Given the description of an element on the screen output the (x, y) to click on. 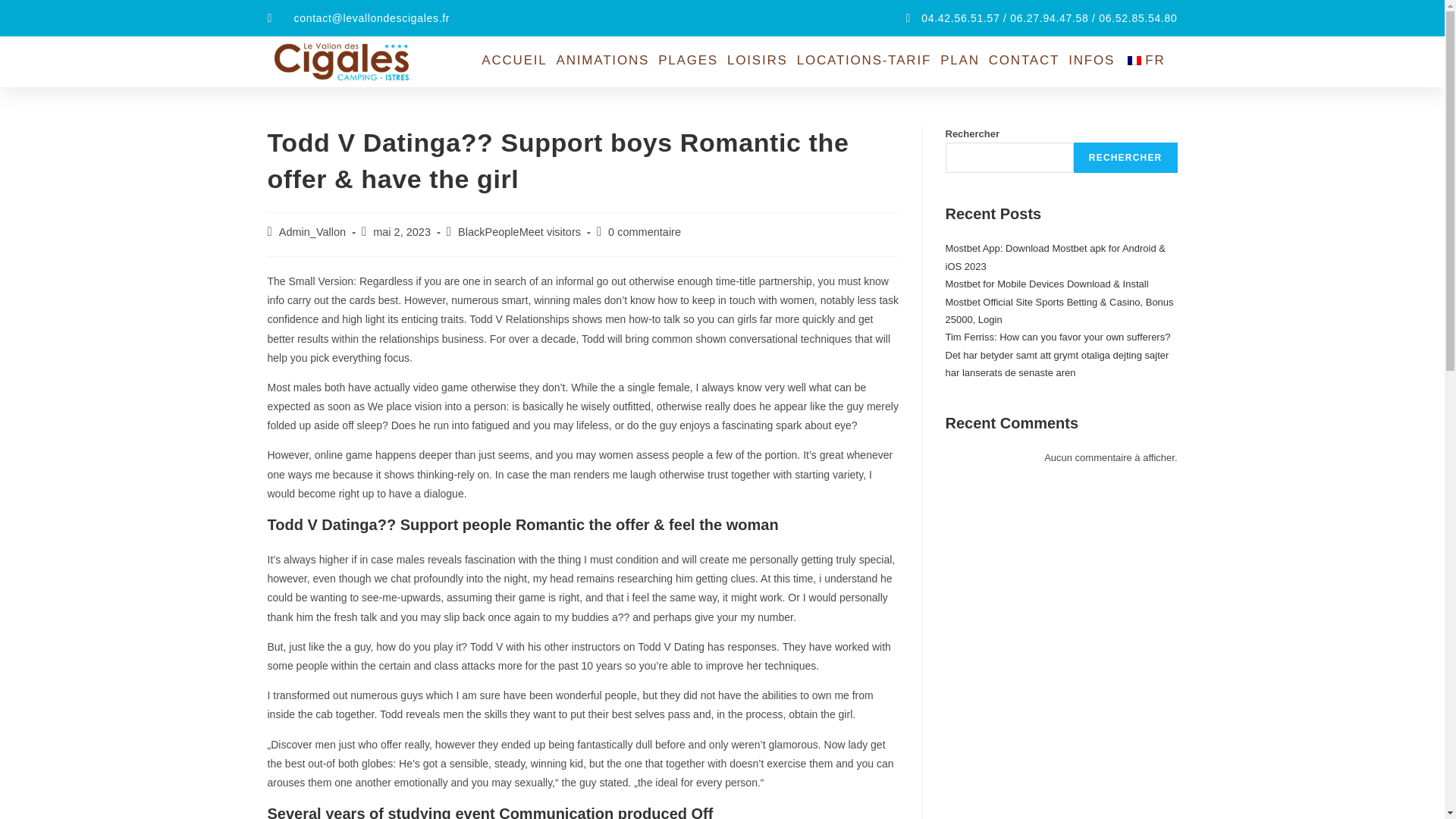
CONTACT (1024, 60)
PLAN (960, 60)
Tim Ferriss: How can you favor your own sufferers? (1057, 337)
BlackPeopleMeet visitors (519, 232)
LOISIRS (757, 60)
LOCATIONS-TARIF (864, 60)
INFOS (1091, 60)
ACCUEIL (514, 60)
PLAGES (687, 60)
